Given the description of an element on the screen output the (x, y) to click on. 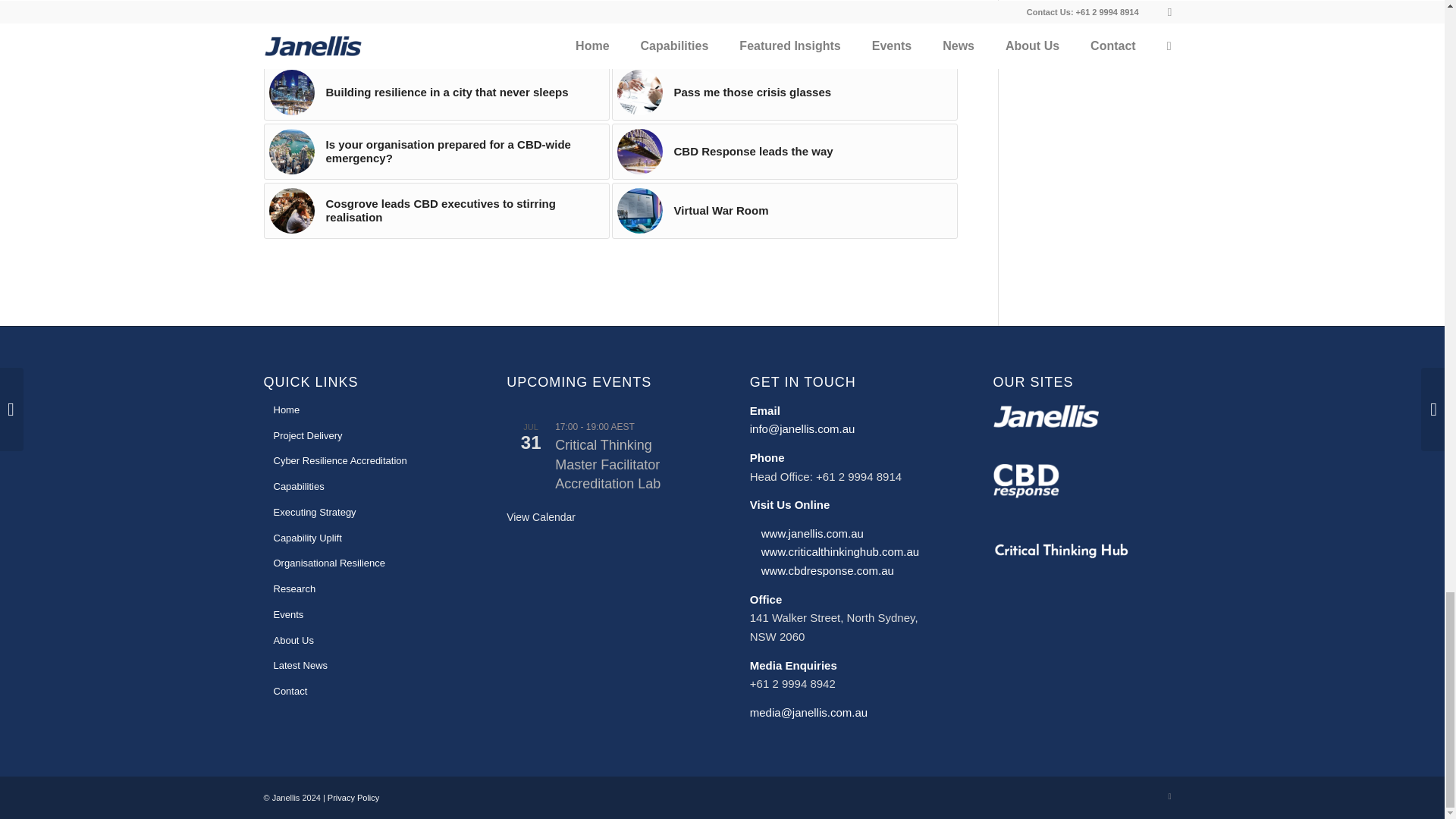
Is your organisation prepared for a CBD-wide emergency? (436, 151)
Building resilience in a city that never sleeps (436, 92)
Pass me those crisis glasses (783, 92)
